Given the description of an element on the screen output the (x, y) to click on. 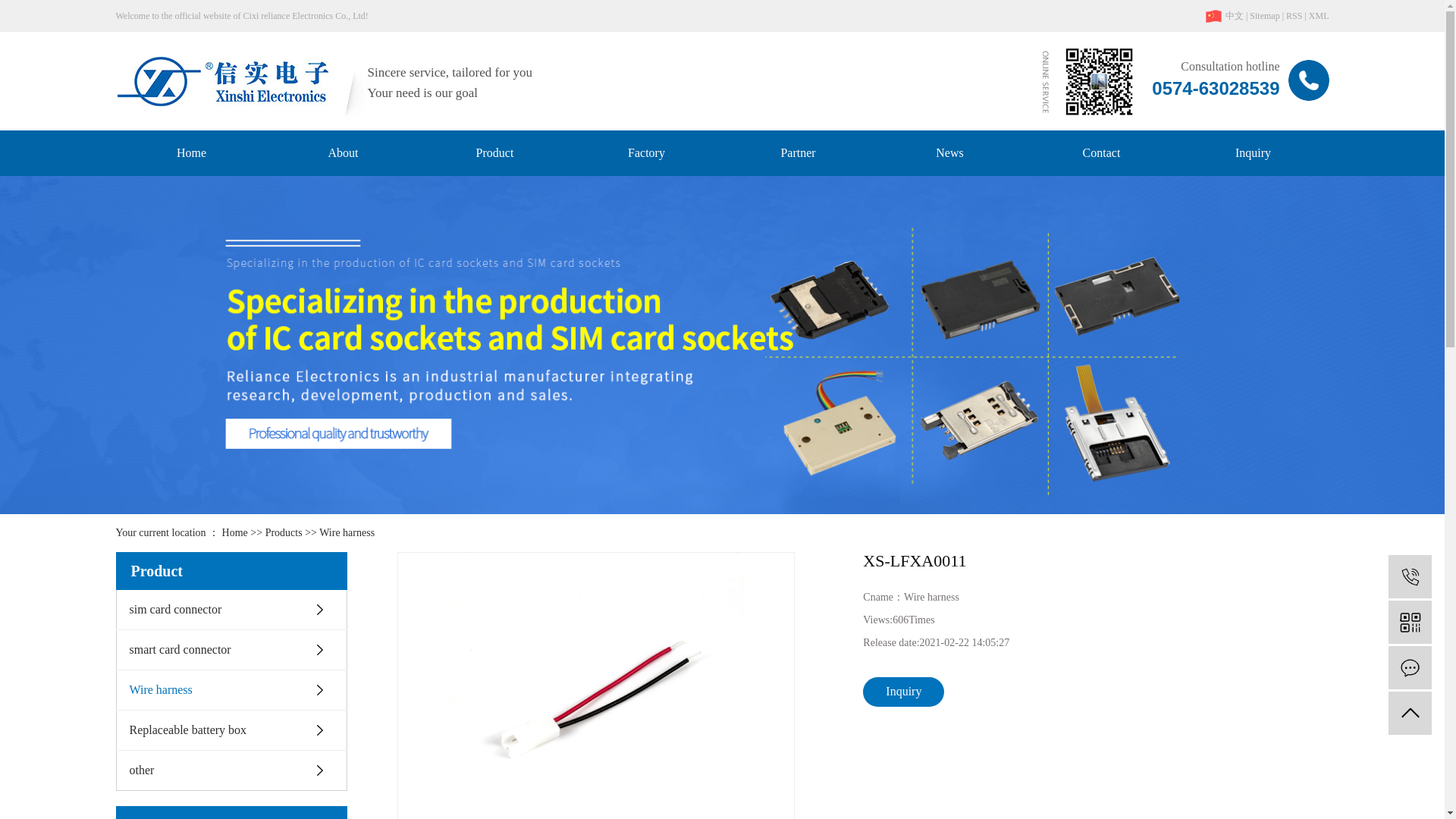
About (342, 153)
RSS (1293, 15)
Factory (646, 153)
Sitemap (1264, 15)
XML (1318, 15)
1614316522109503.png (1089, 81)
Home (190, 153)
Product (494, 153)
